Given the description of an element on the screen output the (x, y) to click on. 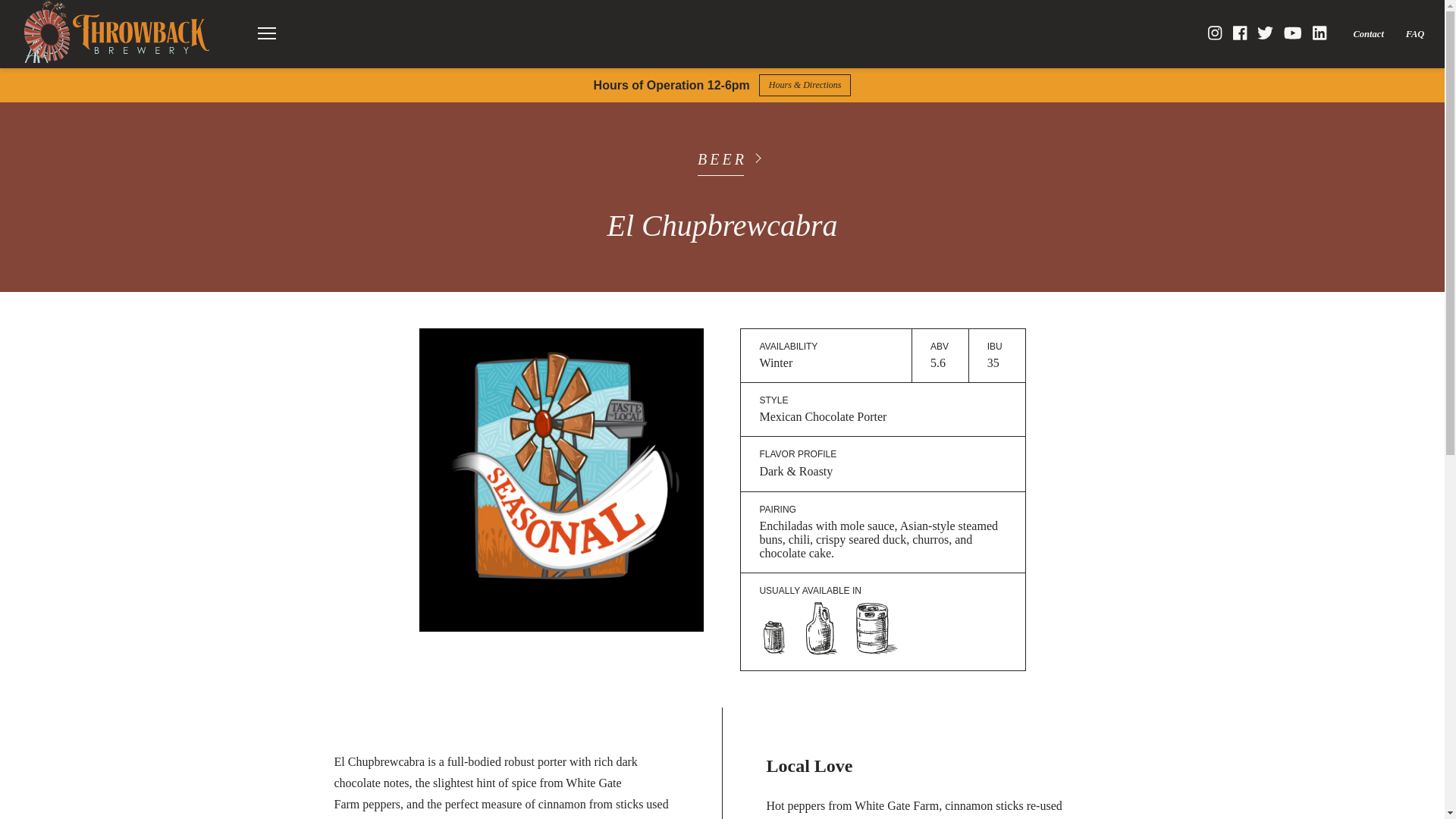
ORDER TAKEOUT (720, 71)
Contact (1368, 33)
Navigation Menu Toggle (265, 33)
DRINKS FOR HERE (498, 71)
FAQ (1415, 33)
FOOD MENU (290, 71)
VISIT US! (913, 71)
